Given the description of an element on the screen output the (x, y) to click on. 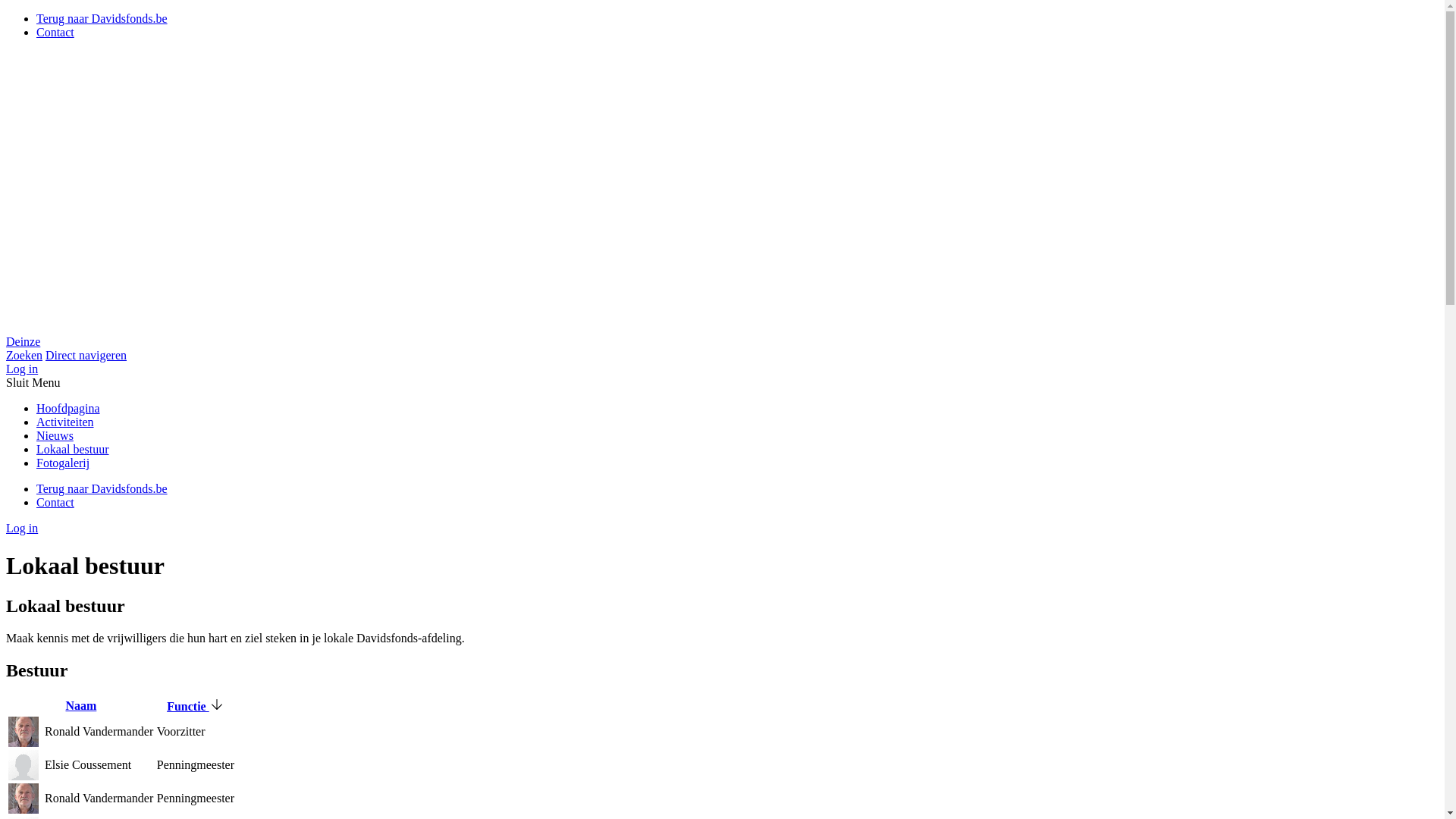
Contact Element type: text (55, 501)
Hoofdpagina Element type: text (68, 407)
Terug naar Davidsfonds.be Element type: text (101, 18)
Log in Element type: text (21, 368)
Lokaal bestuur Element type: text (72, 448)
Fotogalerij Element type: text (62, 462)
Nieuws Element type: text (54, 435)
Zoeken Element type: text (24, 354)
Oplopend gesorteerd Element type: hover (216, 704)
Contact Element type: text (55, 31)
Log in Element type: text (21, 527)
Direct navigeren Element type: text (85, 354)
Deinze Element type: text (722, 334)
Activiteiten Element type: text (65, 421)
Naam Element type: text (80, 705)
Functie Element type: text (195, 705)
Terug naar Davidsfonds.be Element type: text (101, 488)
